Given the description of an element on the screen output the (x, y) to click on. 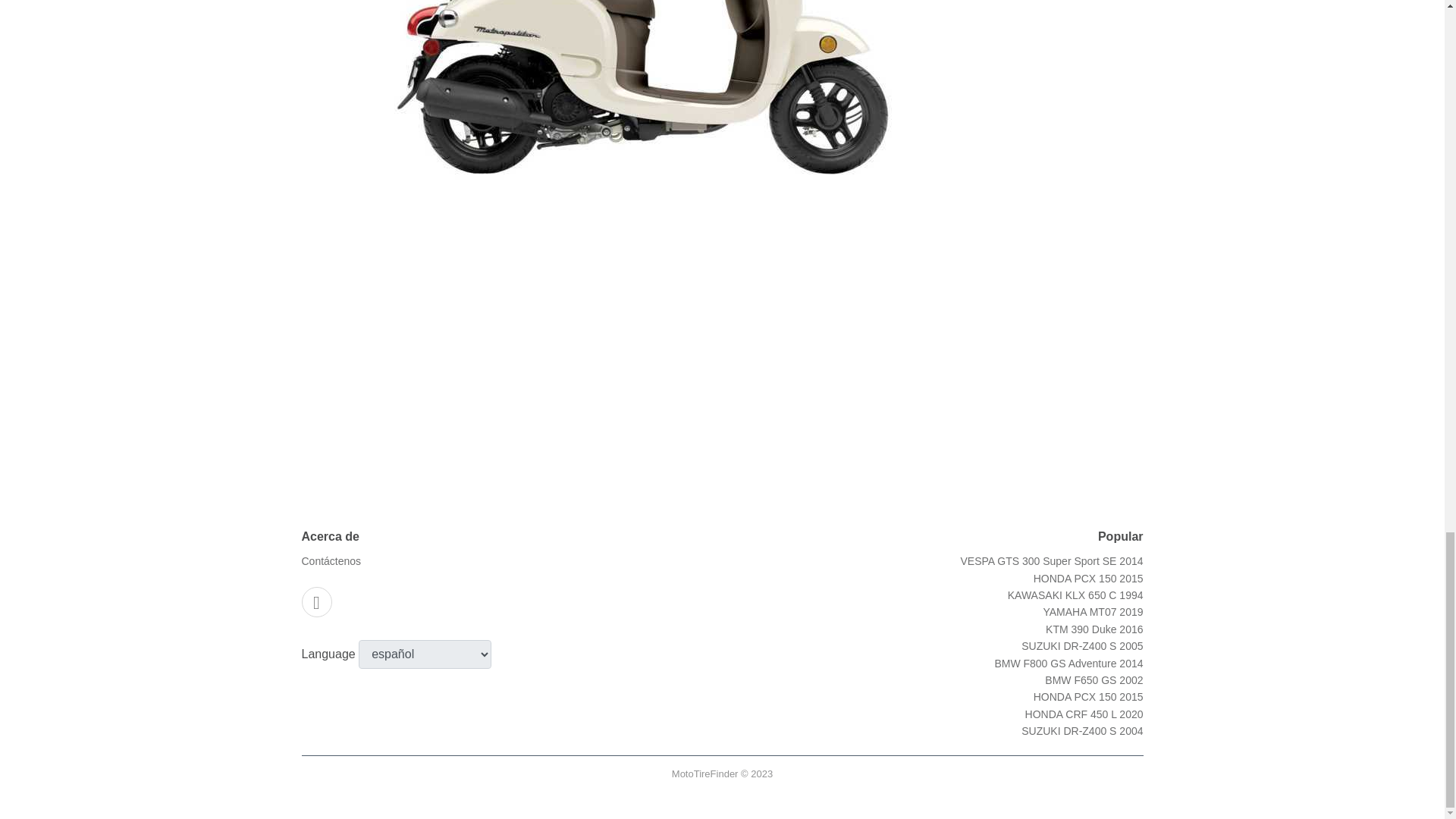
HONDA PCX 150 2015 (1087, 696)
HONDA PCX 150 2015 (1087, 578)
VESPA GTS 300 Super Sport SE 2014 (1050, 561)
HONDA CRF 450 L 2020 (1083, 714)
BMW F650 GS 2002 (1093, 680)
SUZUKI DR-Z400 S 2004 (1082, 730)
KAWASAKI KLX 650 C 1994 (1074, 594)
BMW F800 GS Adventure 2014 (1068, 663)
YAMAHA MT07 2019 (1092, 612)
KTM 390 Duke 2016 (1093, 629)
SUZUKI DR-Z400 S 2005 (1082, 645)
